Given the description of an element on the screen output the (x, y) to click on. 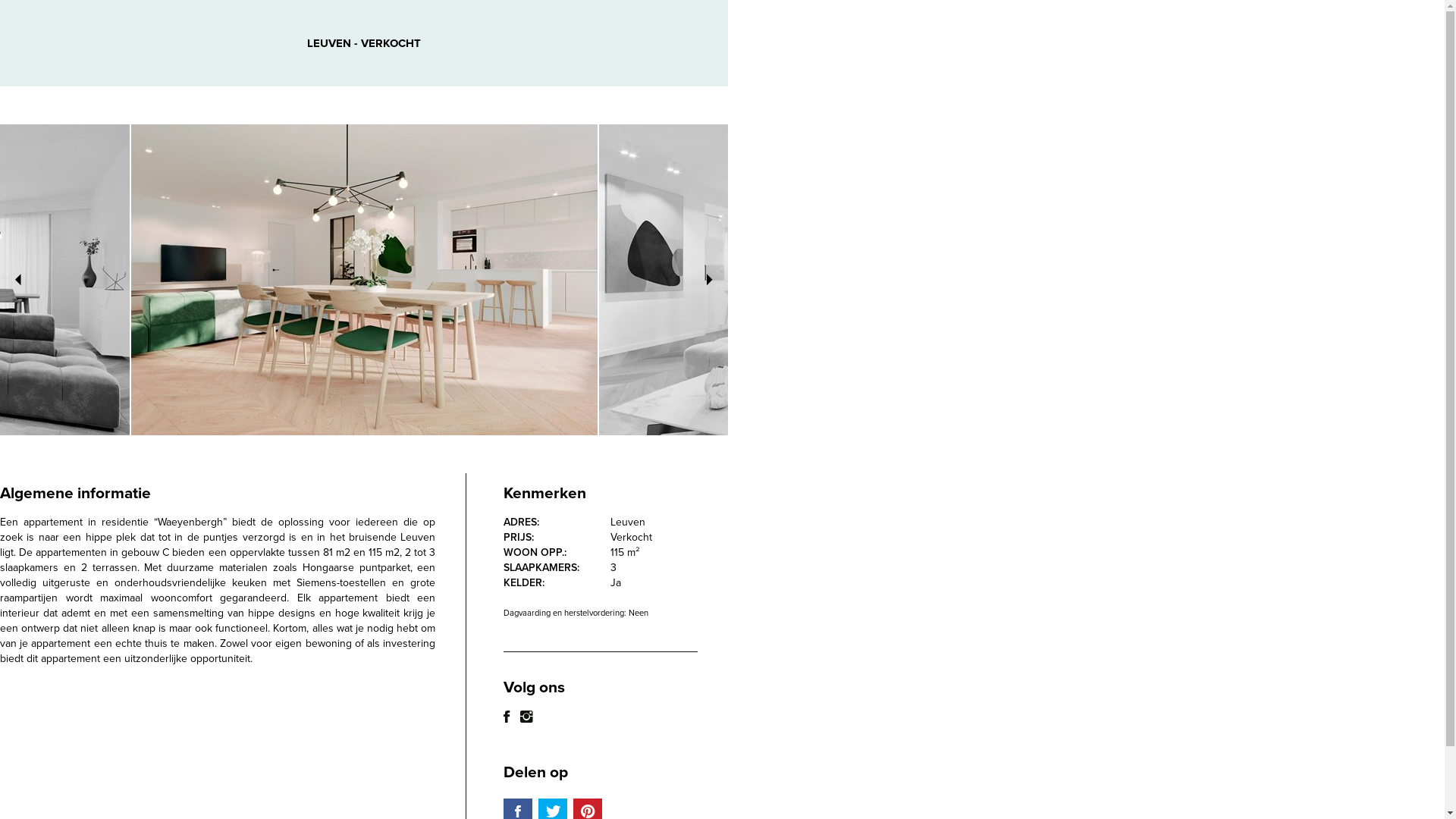
Previous Element type: text (182, 279)
Next Element type: text (546, 279)
